Given the description of an element on the screen output the (x, y) to click on. 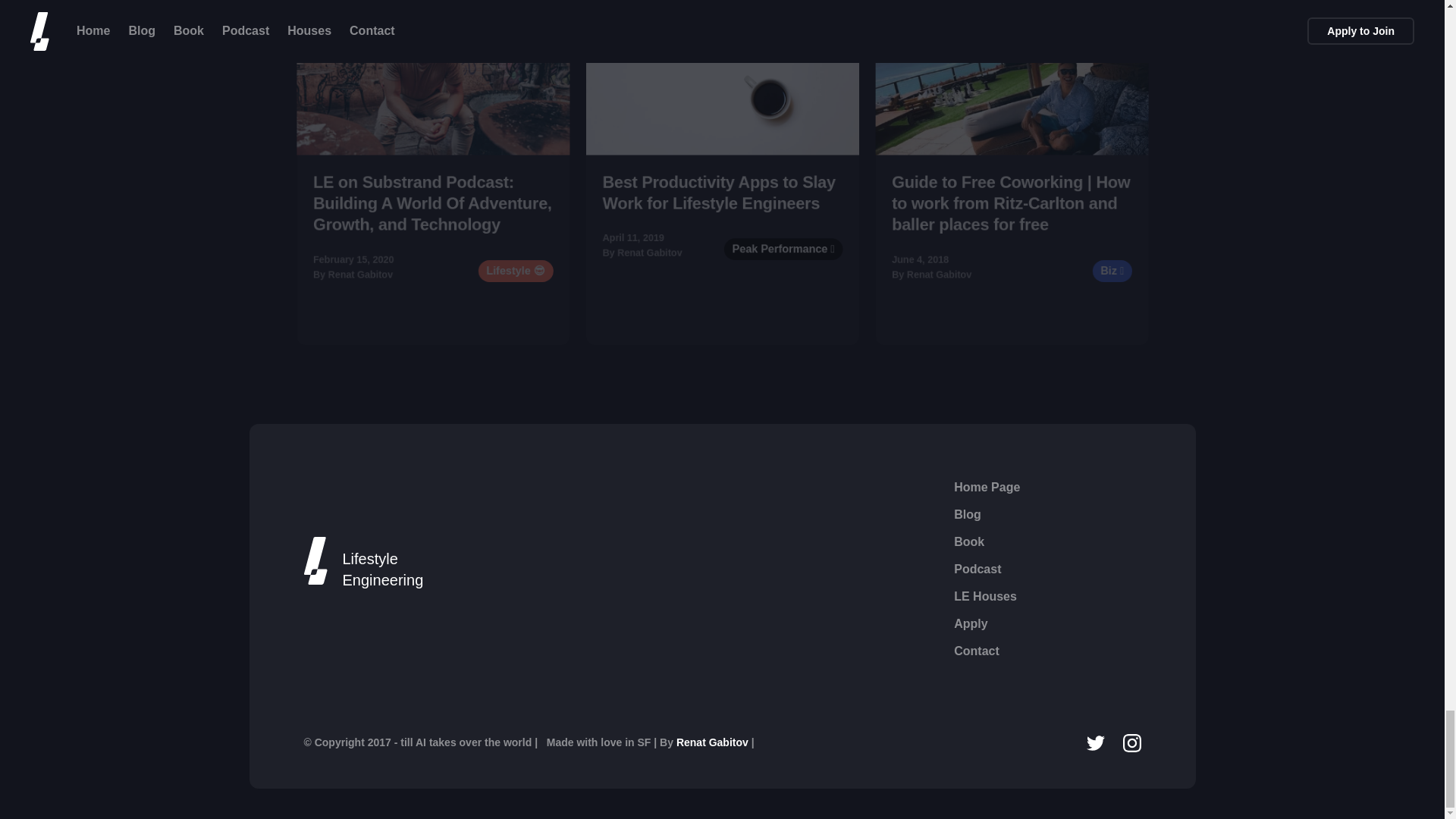
Apply (970, 624)
Renat Gabitov (714, 742)
Contact (975, 651)
Blog (967, 515)
Book (968, 542)
Best Productivity Apps to Slay Work for Lifestyle Engineers (735, 203)
LE Houses (984, 597)
Podcast (977, 569)
Home Page (986, 487)
